Given the description of an element on the screen output the (x, y) to click on. 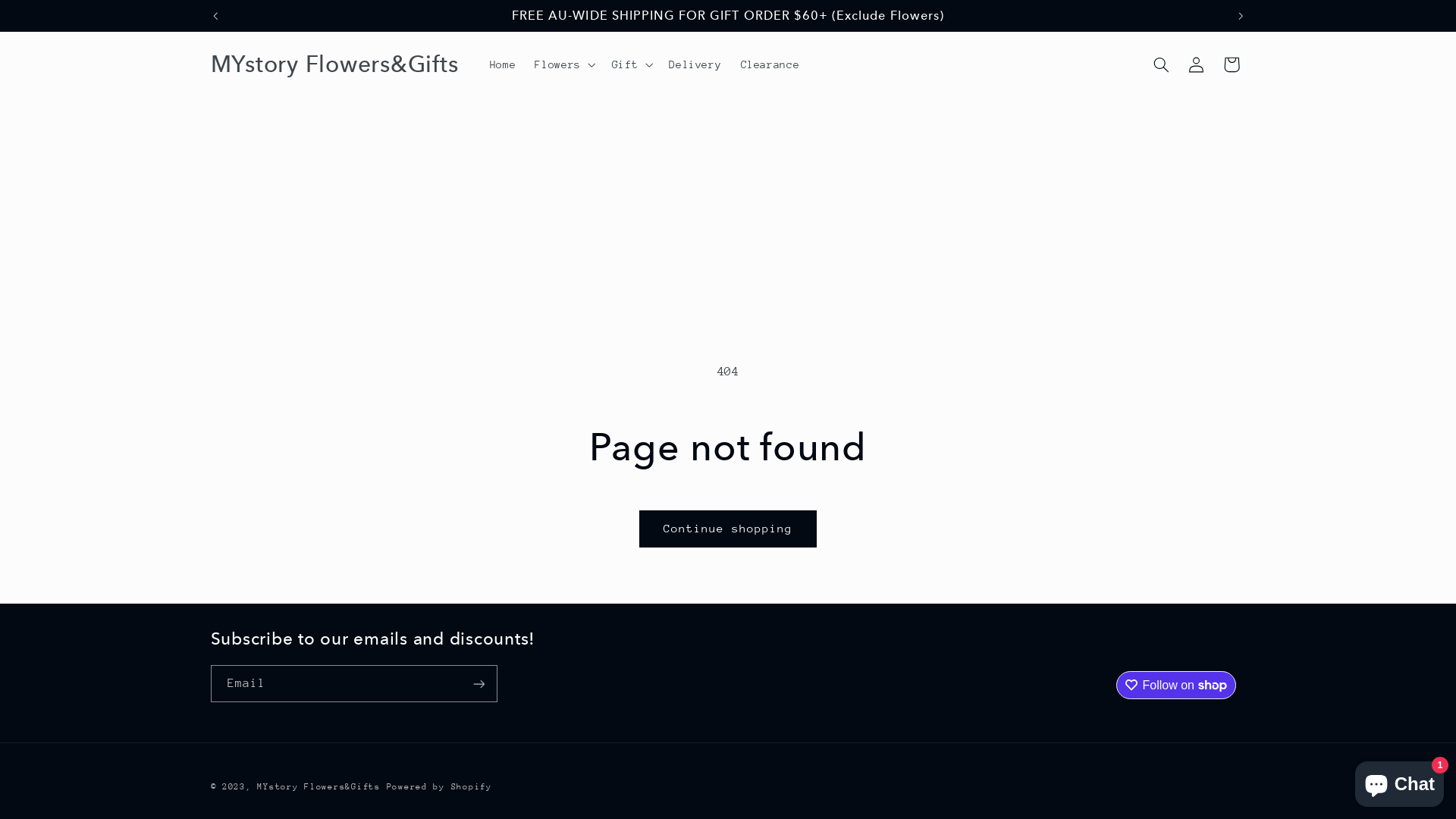
Continue shopping Element type: text (727, 528)
Home Element type: text (502, 64)
Cart Element type: text (1231, 64)
MYstory Flowers&Gifts Element type: text (318, 786)
Clearance Element type: text (770, 64)
MYstory Flowers&Gifts Element type: text (334, 64)
Delivery Element type: text (695, 64)
Log in Element type: text (1195, 64)
Powered by Shopify Element type: text (439, 786)
Shopify online store chat Element type: hover (1399, 780)
